Given the description of an element on the screen output the (x, y) to click on. 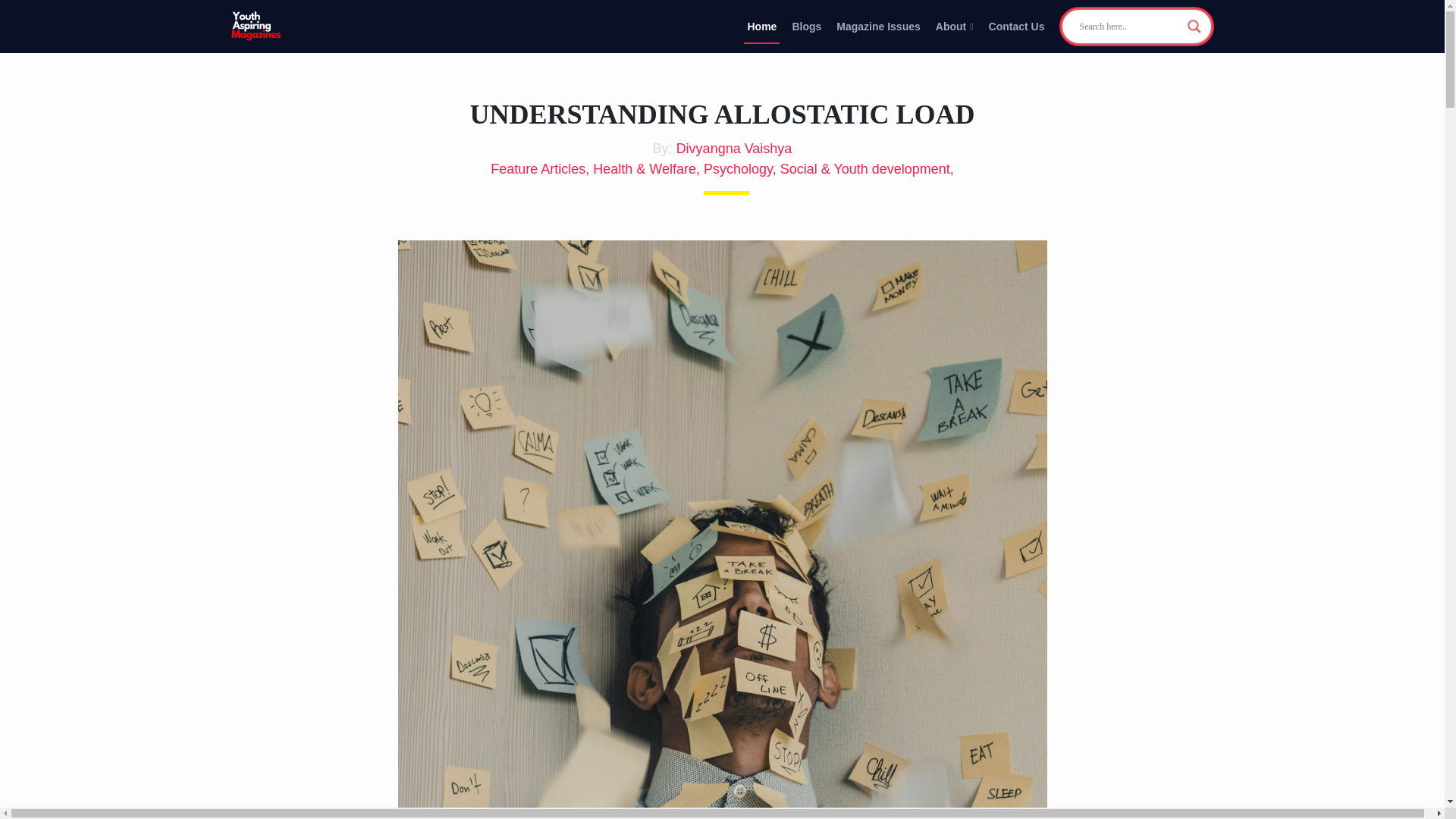
About (954, 25)
Contact Us (1016, 25)
Psychology, (741, 168)
Magazine Issues (877, 25)
Feature Articles, (541, 168)
Home (761, 25)
Posts by Divyangna Vaishya (734, 148)
Contact Us (1016, 25)
Magazine Issues (877, 25)
Blogs (806, 25)
Youth Aspiring Magazine (256, 26)
Blogs (806, 25)
Home (761, 25)
Divyangna Vaishya (734, 148)
